Given the description of an element on the screen output the (x, y) to click on. 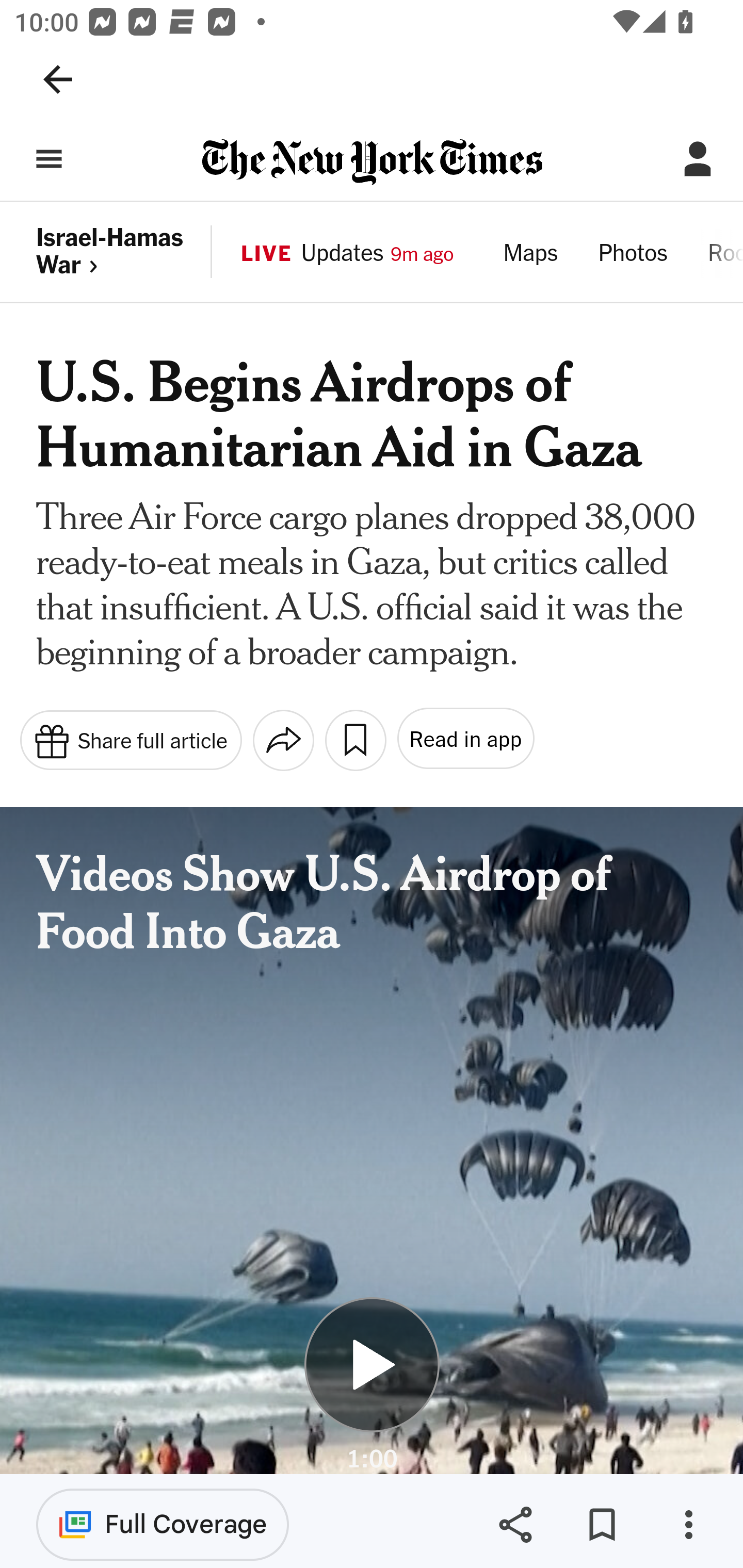
Navigate up (57, 79)
SEARCH & SECTION NAVIGATION (48, 159)
Log in (697, 159)
New York Times homepage (371, 162)
Israel-Hamas War› Israel-Hamas War › (124, 251)
Updates (341, 254)
Maps (530, 254)
Photos (632, 254)
More sharing options ... (283, 740)
Save article for reading later... (355, 740)
Read in app (464, 738)
Share full article (129, 738)
Share (514, 1524)
Save for later (601, 1524)
More options (688, 1524)
Full Coverage (162, 1524)
